Given the description of an element on the screen output the (x, y) to click on. 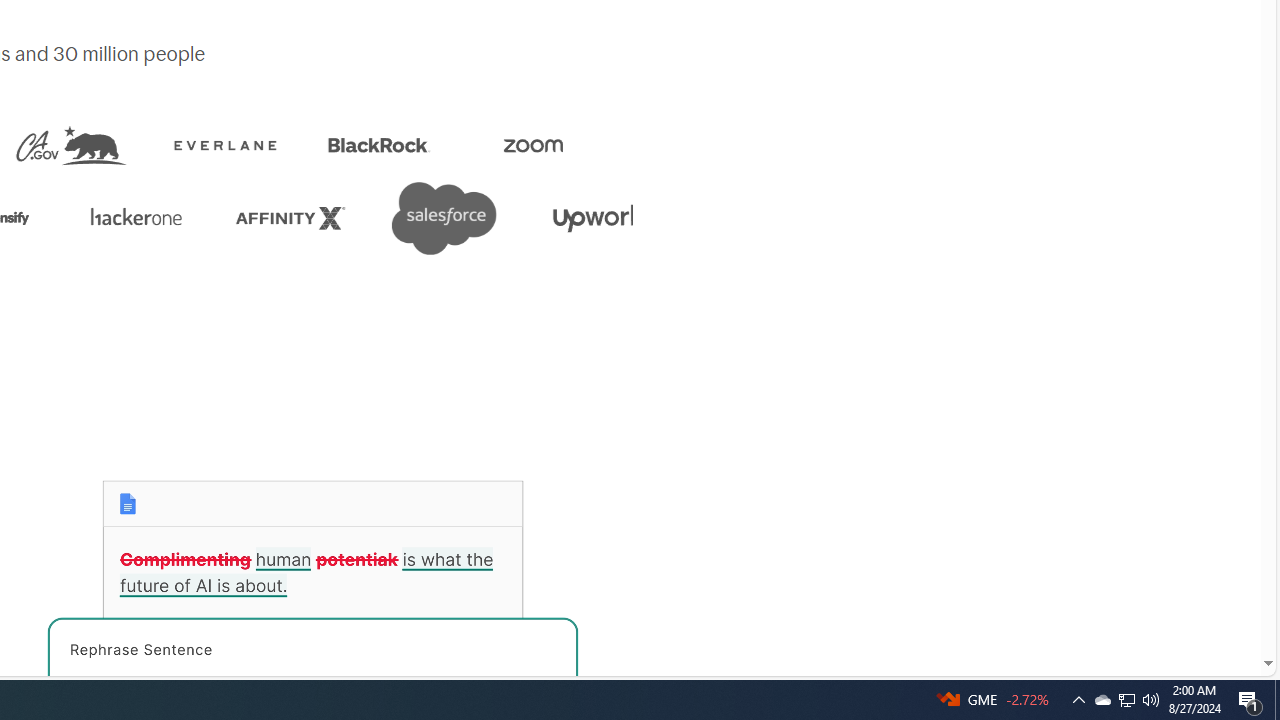
Salesforce (681, 218)
CA.gov (309, 145)
Washington University in St. Louis (139, 145)
BlackRock (601, 145)
Everlane (447, 145)
Arizona State University (66, 218)
Hacker One (374, 218)
AffintyX (528, 218)
Expensify (219, 218)
